Given the description of an element on the screen output the (x, y) to click on. 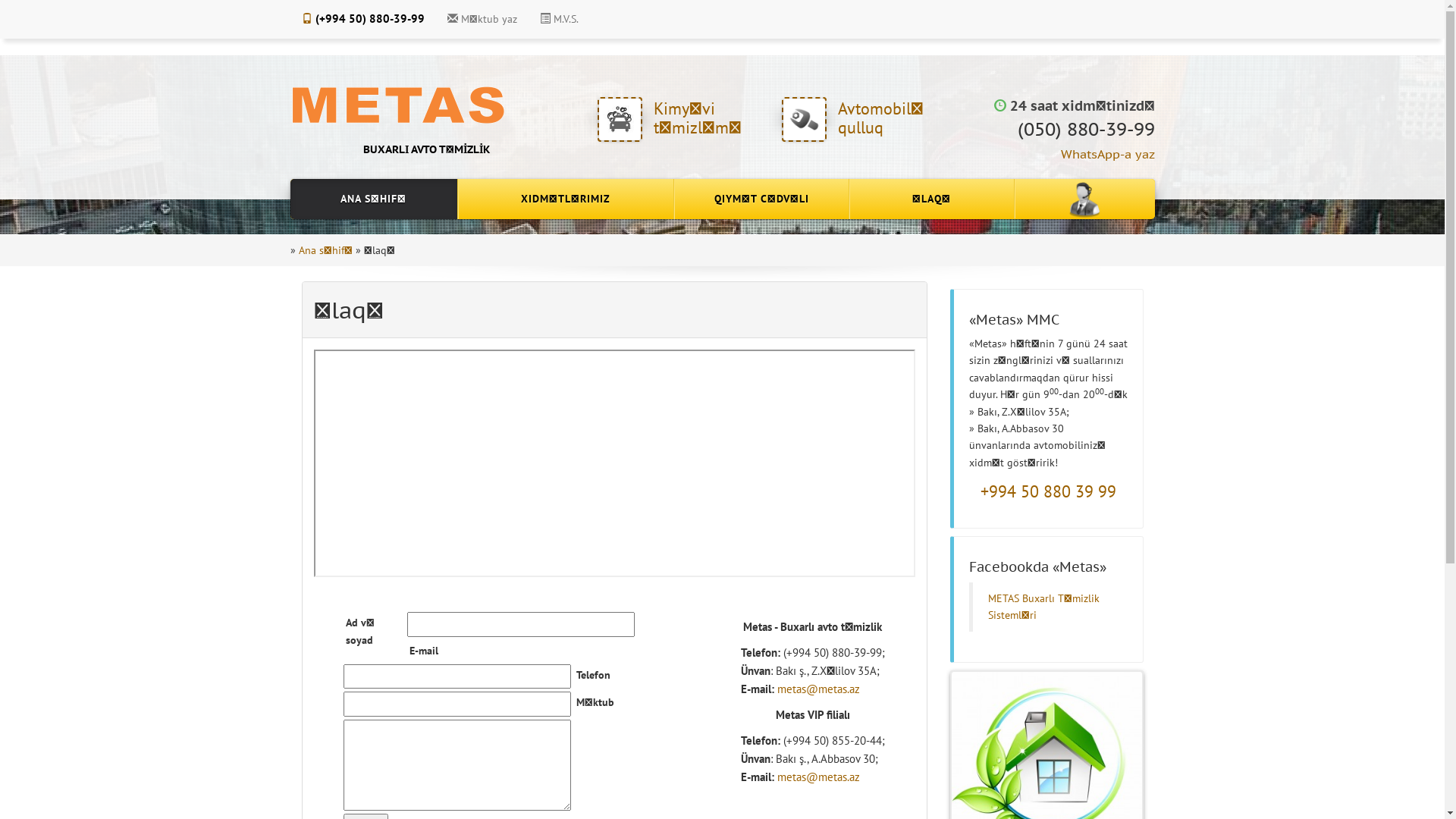
metas@metas.az Element type: text (817, 688)
(+994 50) 880-39-99 Element type: text (362, 18)
WhatsApp-a yaz Element type: text (1107, 153)
metas@metas.az Element type: text (817, 776)
M.V.S. Element type: text (558, 18)
